Given the description of an element on the screen output the (x, y) to click on. 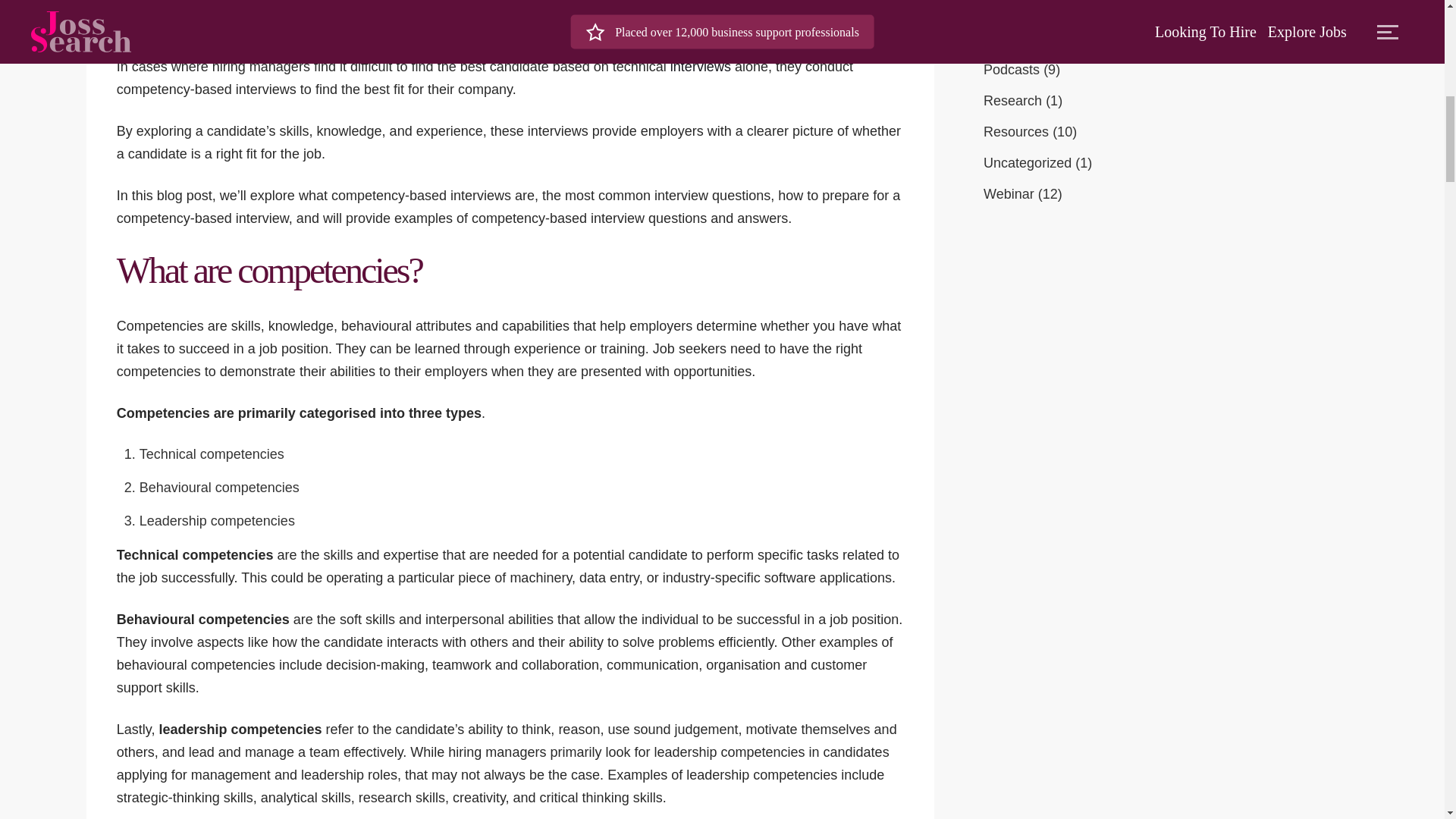
interviews (699, 66)
Webinar (1008, 193)
Blog (997, 7)
Case Studies (1024, 38)
Resources (1016, 131)
Uncategorized (1027, 162)
Research (1013, 100)
Podcasts (1011, 69)
